Given the description of an element on the screen output the (x, y) to click on. 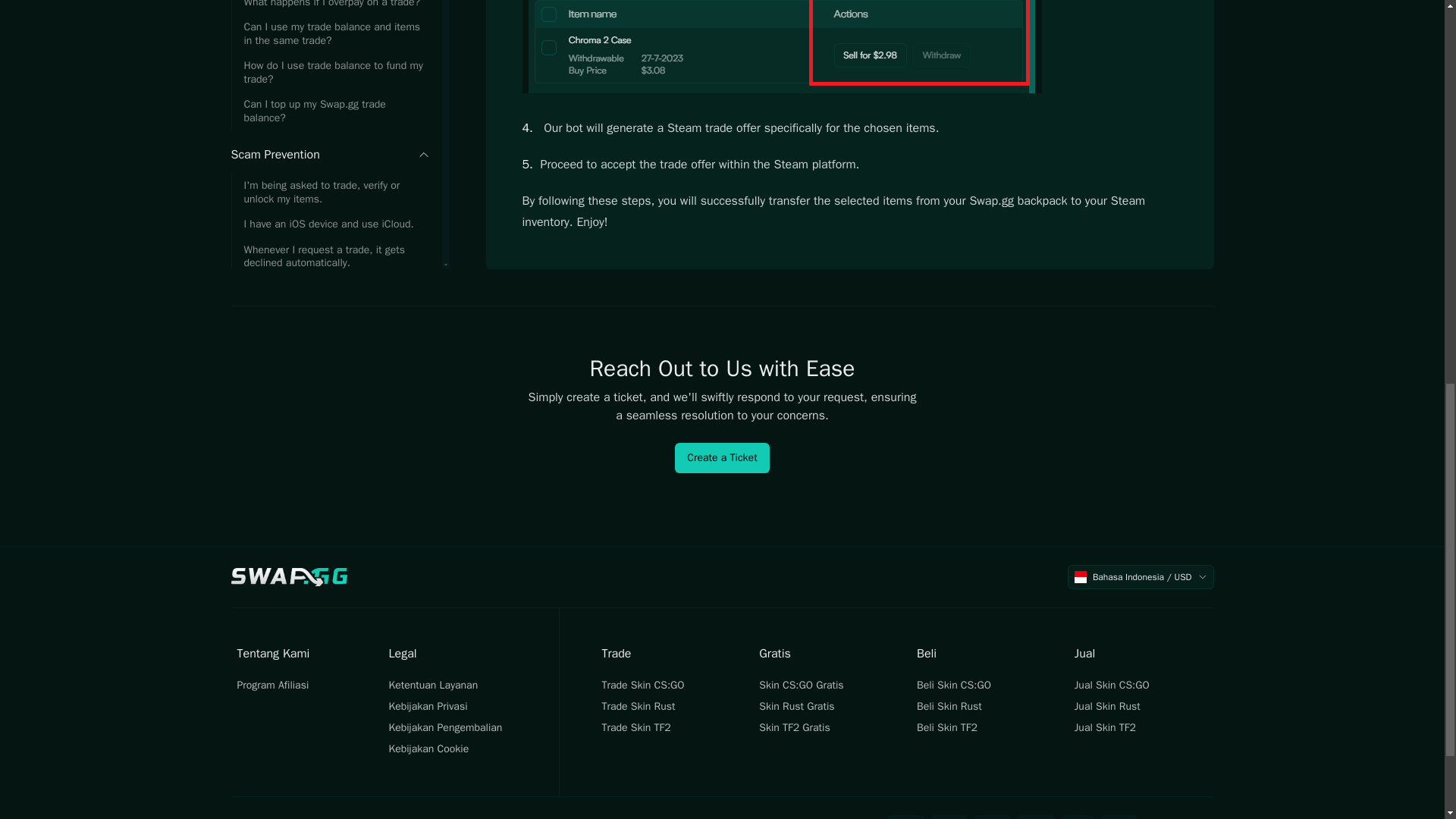
Trade Locked Items (329, 197)
How can I withdraw a reserved item? (329, 267)
PayPal (1077, 816)
How long do I have to withdraw reserved items? (329, 234)
General (329, 354)
What is a Steam trade lock? (329, 317)
What is Swap.gg? (329, 424)
Visa (905, 816)
Whenever I request a trade, it gets declined automatically. (329, 154)
Skrill (1119, 816)
Mastercard (949, 816)
Can I top up my Swap.gg trade balance? (329, 13)
I have an iOS device and use iCloud. (329, 121)
Can I trade for trade locked items? (329, 292)
I'm being asked to trade, verify or unlock my items. (329, 89)
